Given the description of an element on the screen output the (x, y) to click on. 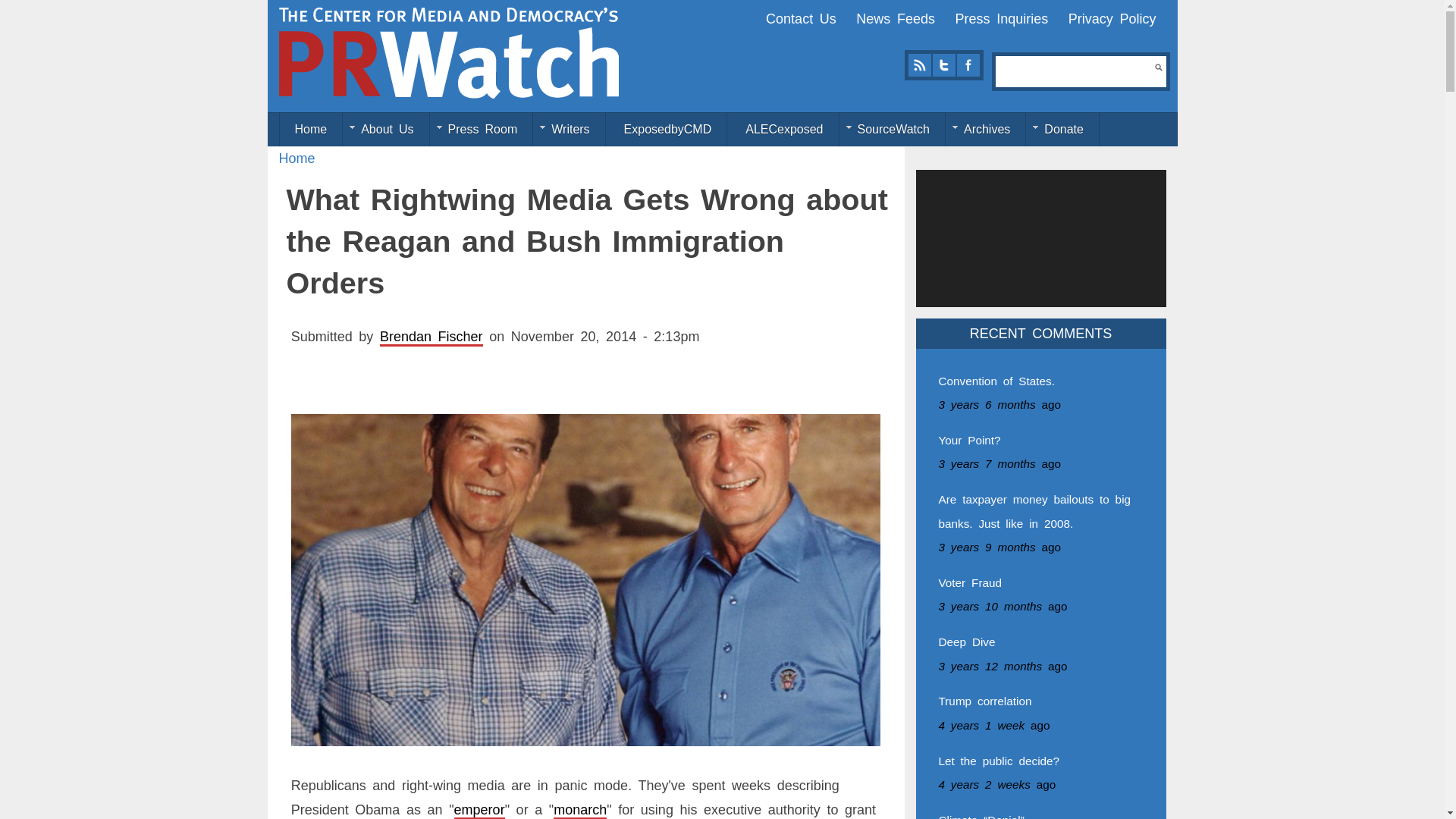
Join CMD's Facebook Page (967, 64)
monarch (580, 809)
Home (297, 158)
Facebook (967, 64)
Press Inquiries (1001, 18)
Enter the terms you wish to search for. (1074, 71)
Home (448, 52)
Brendan Fischer (431, 336)
emperor (479, 809)
View user profile. (431, 336)
